Given the description of an element on the screen output the (x, y) to click on. 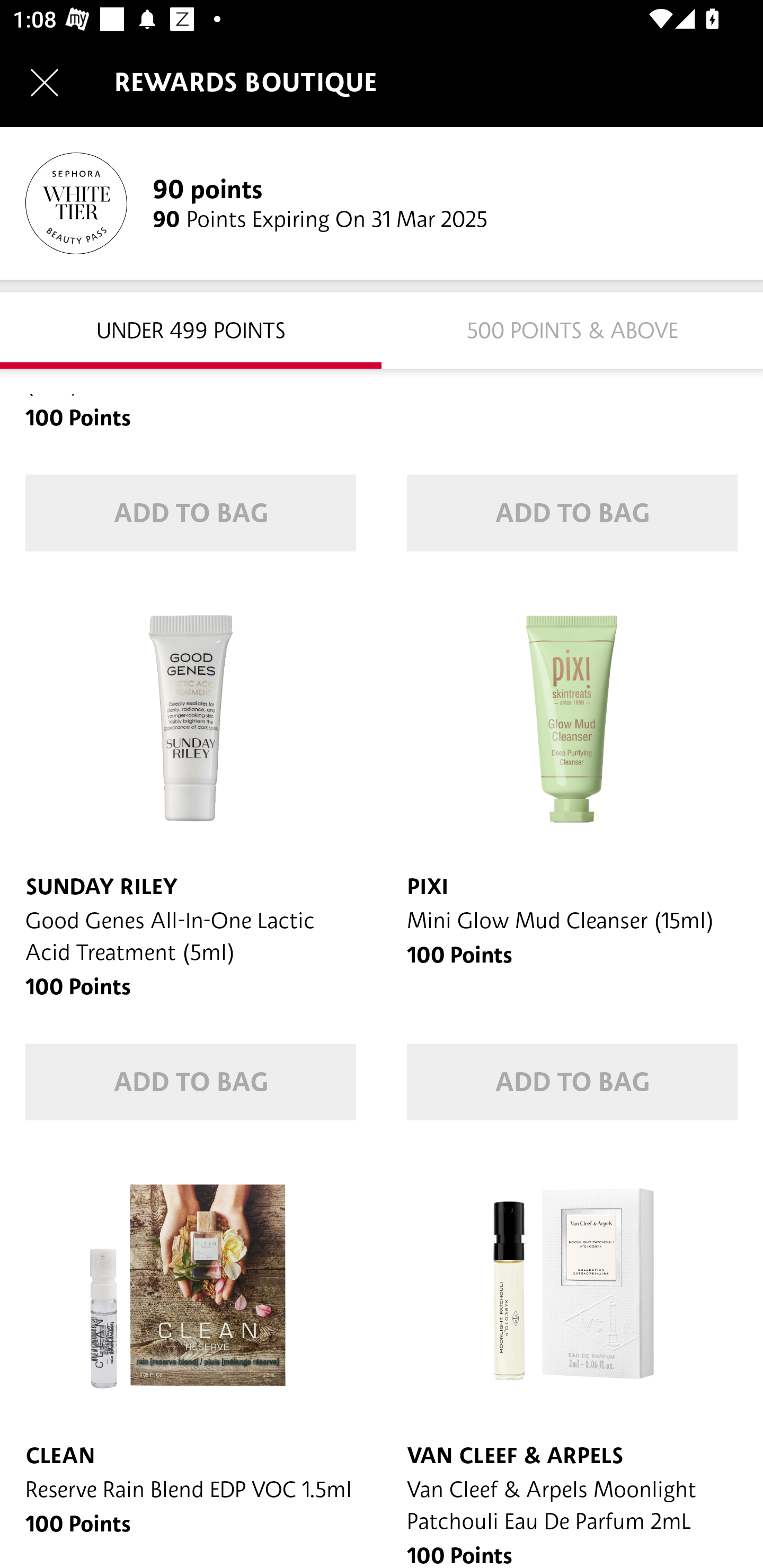
Navigate up (44, 82)
500 Points & Above 500 POINTS & ABOVE (572, 329)
100 Points ADD TO BAG (572, 485)
ADD TO BAG (190, 513)
ADD TO BAG (571, 513)
ADD TO BAG (190, 1082)
ADD TO BAG (571, 1082)
CLEAN Reserve Rain Blend EDP VOC 1.5ml 100 Points (190, 1357)
